Given the description of an element on the screen output the (x, y) to click on. 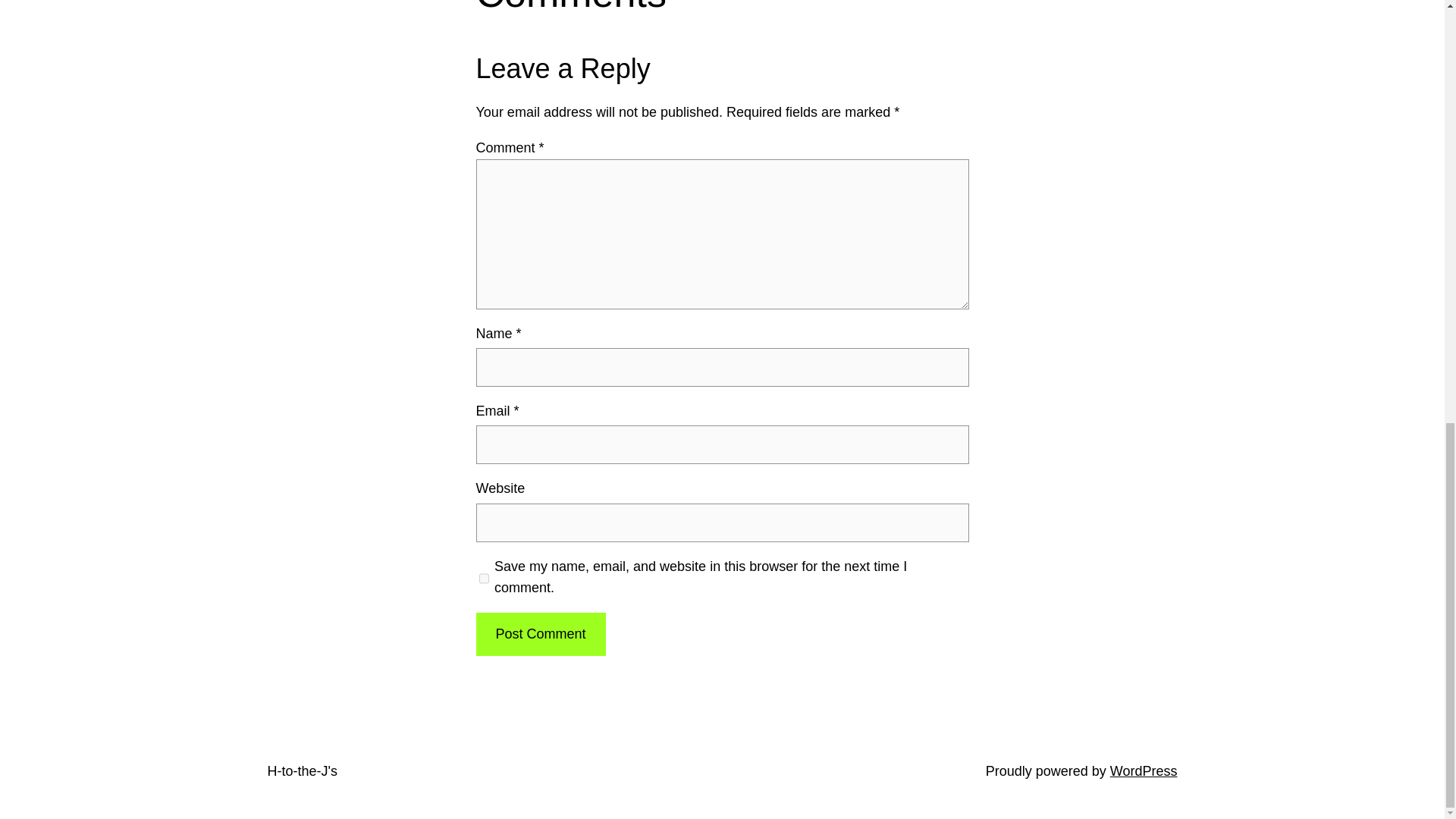
Post Comment (540, 634)
H-to-the-J's (301, 770)
WordPress (1143, 770)
Post Comment (540, 634)
